Given the description of an element on the screen output the (x, y) to click on. 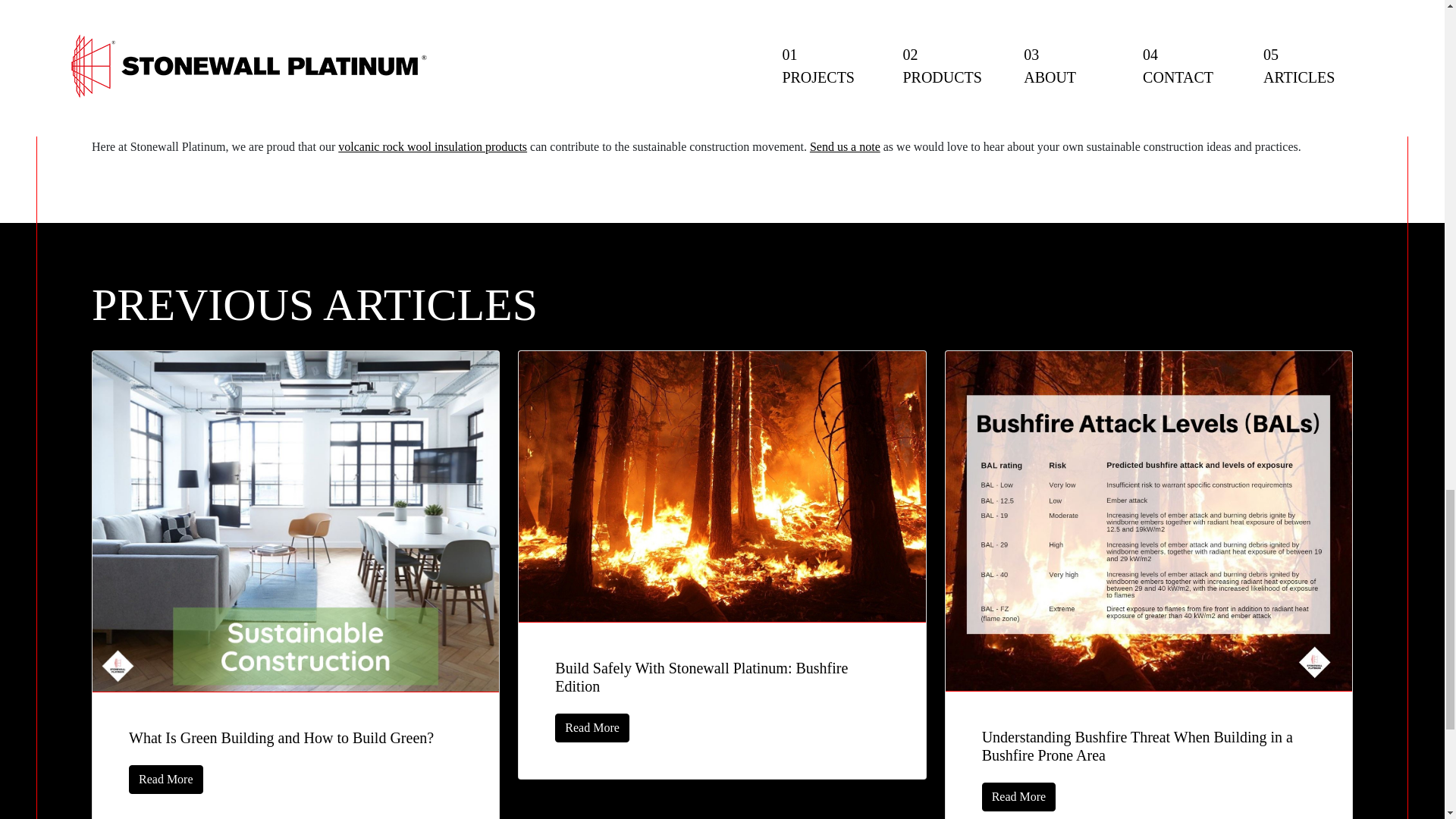
Read More (591, 727)
Read More (166, 778)
Read More (1019, 796)
Send us a note (844, 146)
PREVIOUS ARTICLES (721, 304)
Feature image (721, 486)
volcanic rock wool insulation products (432, 146)
